Given the description of an element on the screen output the (x, y) to click on. 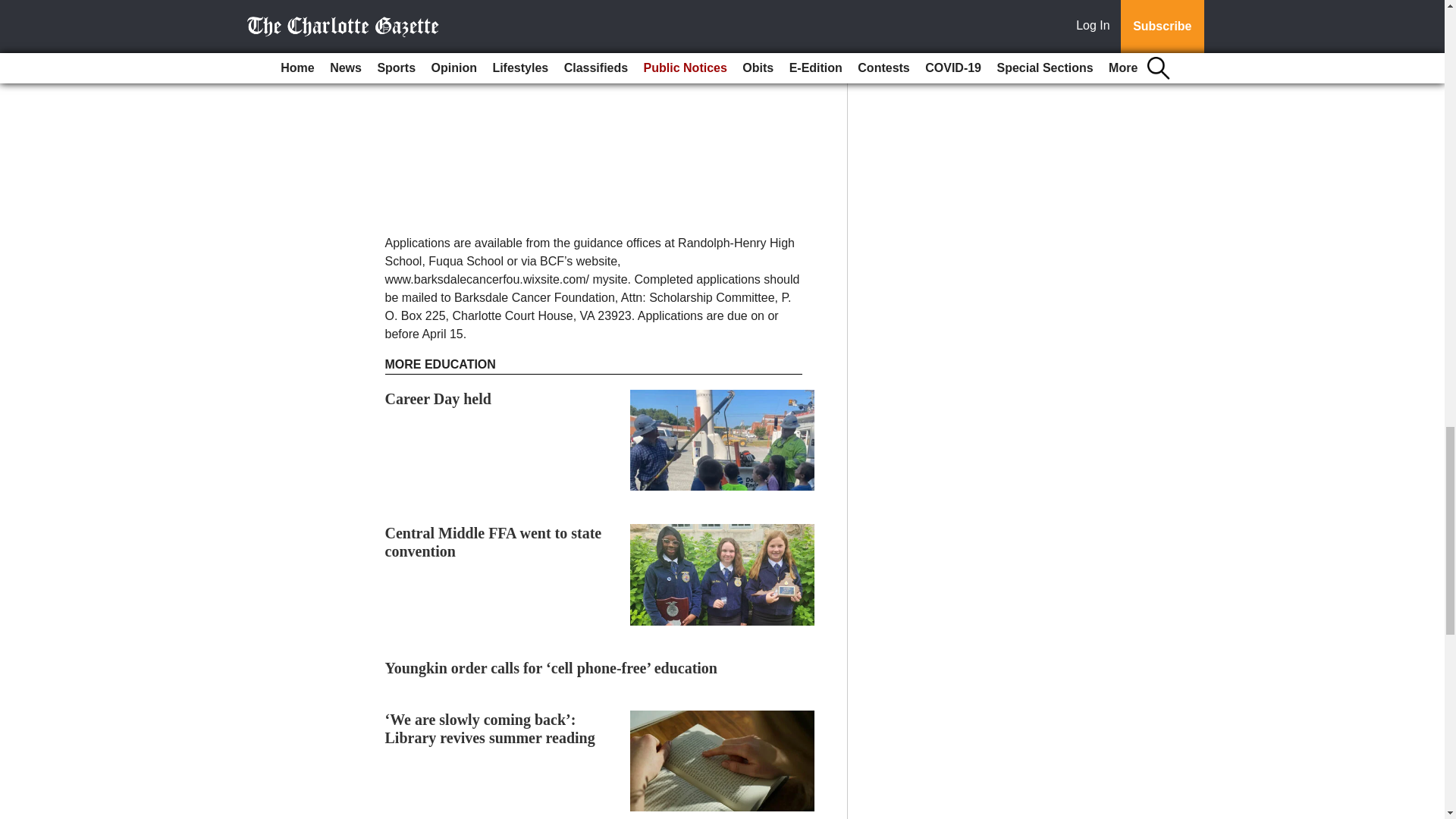
Central Middle FFA went to state convention (493, 541)
Career Day held (438, 398)
Career Day held (438, 398)
Central Middle FFA went to state convention (493, 541)
